Given the description of an element on the screen output the (x, y) to click on. 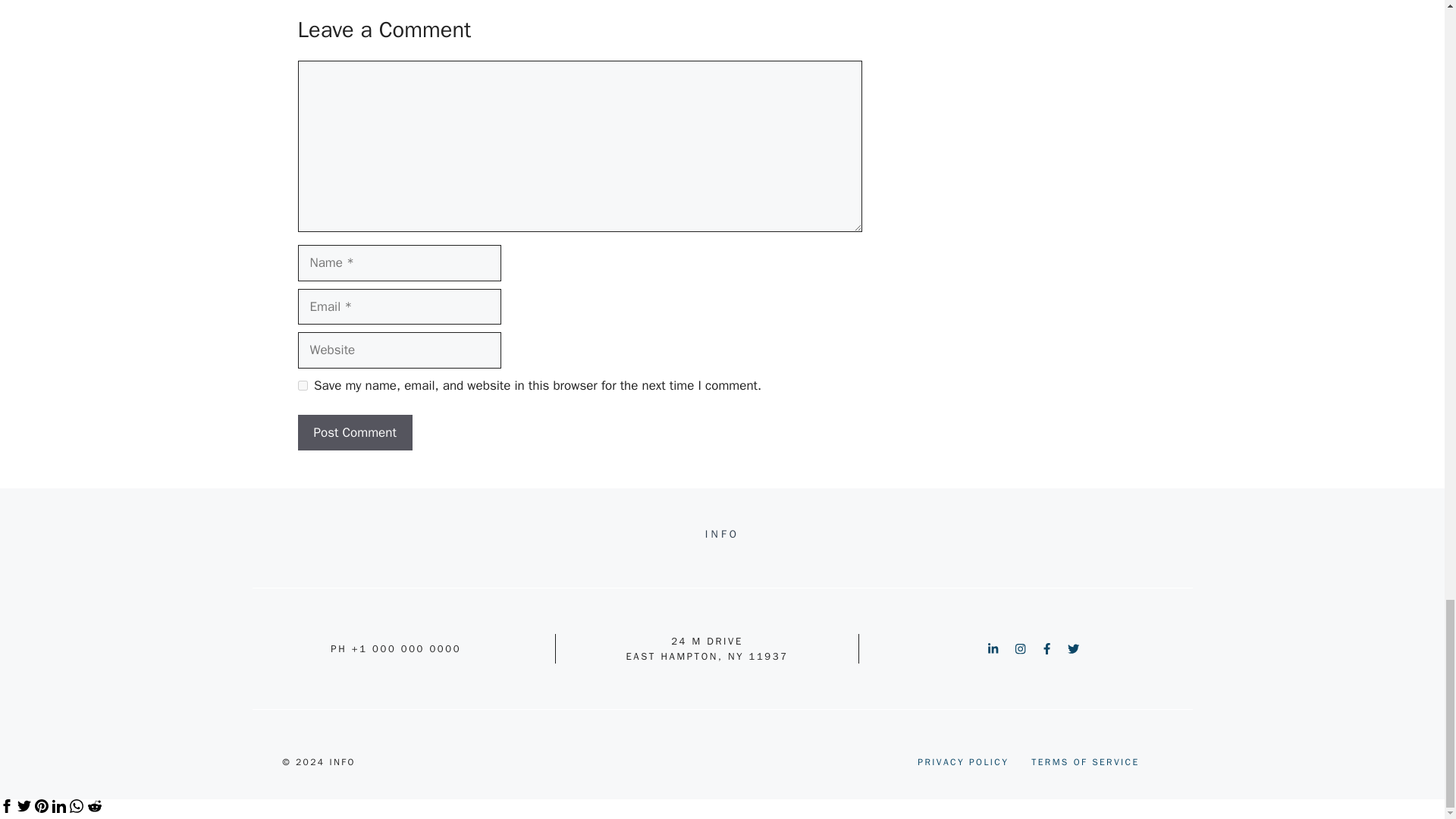
yes (302, 385)
Post Comment (354, 432)
